Given the description of an element on the screen output the (x, y) to click on. 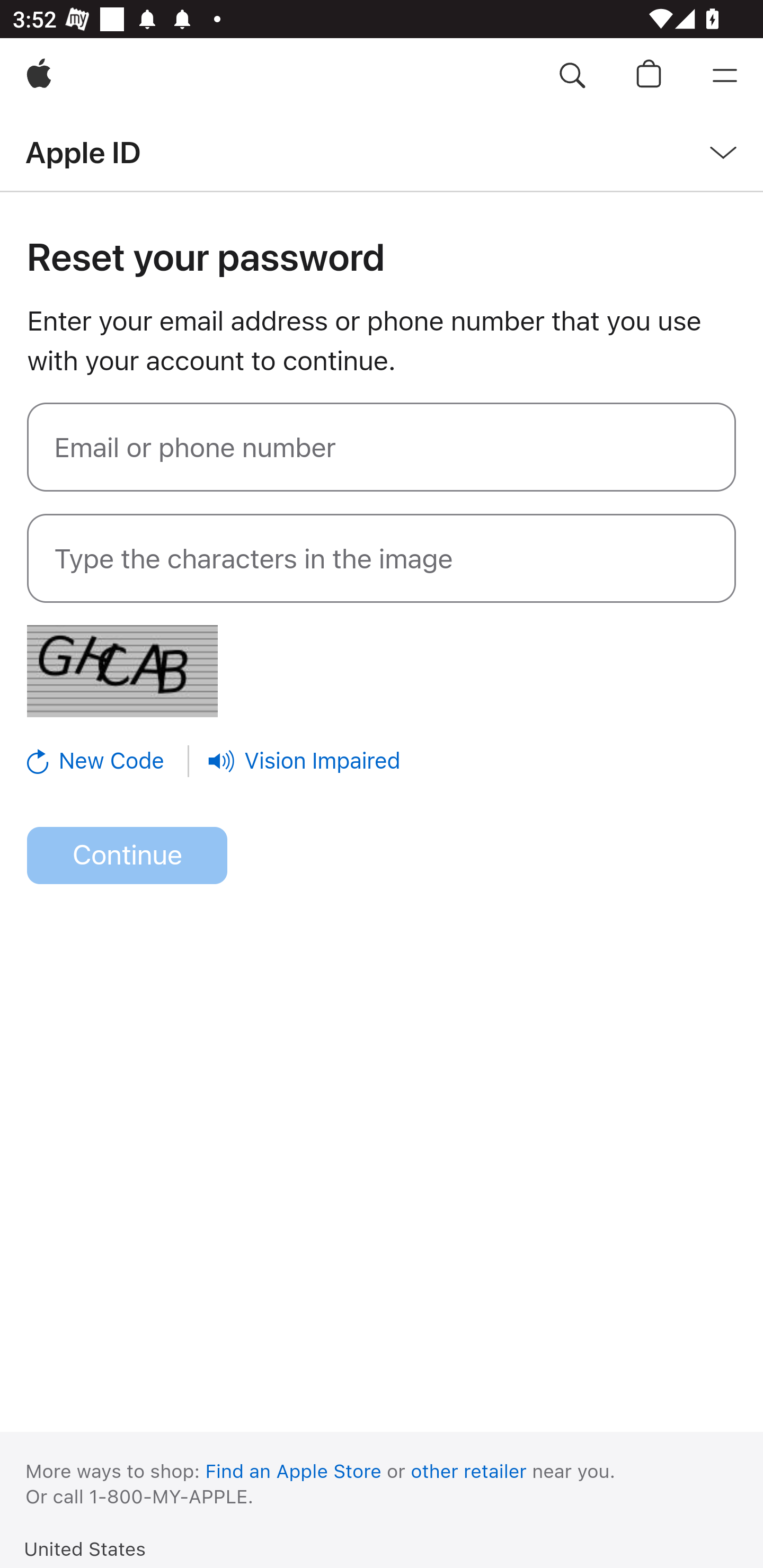
Apple (38, 75)
Search apple.com (572, 75)
Shopping Bag (648, 75)
Menu (724, 75)
Apple ID (83, 151)
 New Code (108, 760)
 Vision Impaired (304, 760)
Continue (126, 855)
Find an Apple Store (293, 1470)
other retailer (468, 1470)
United States (84, 1548)
